Given the description of an element on the screen output the (x, y) to click on. 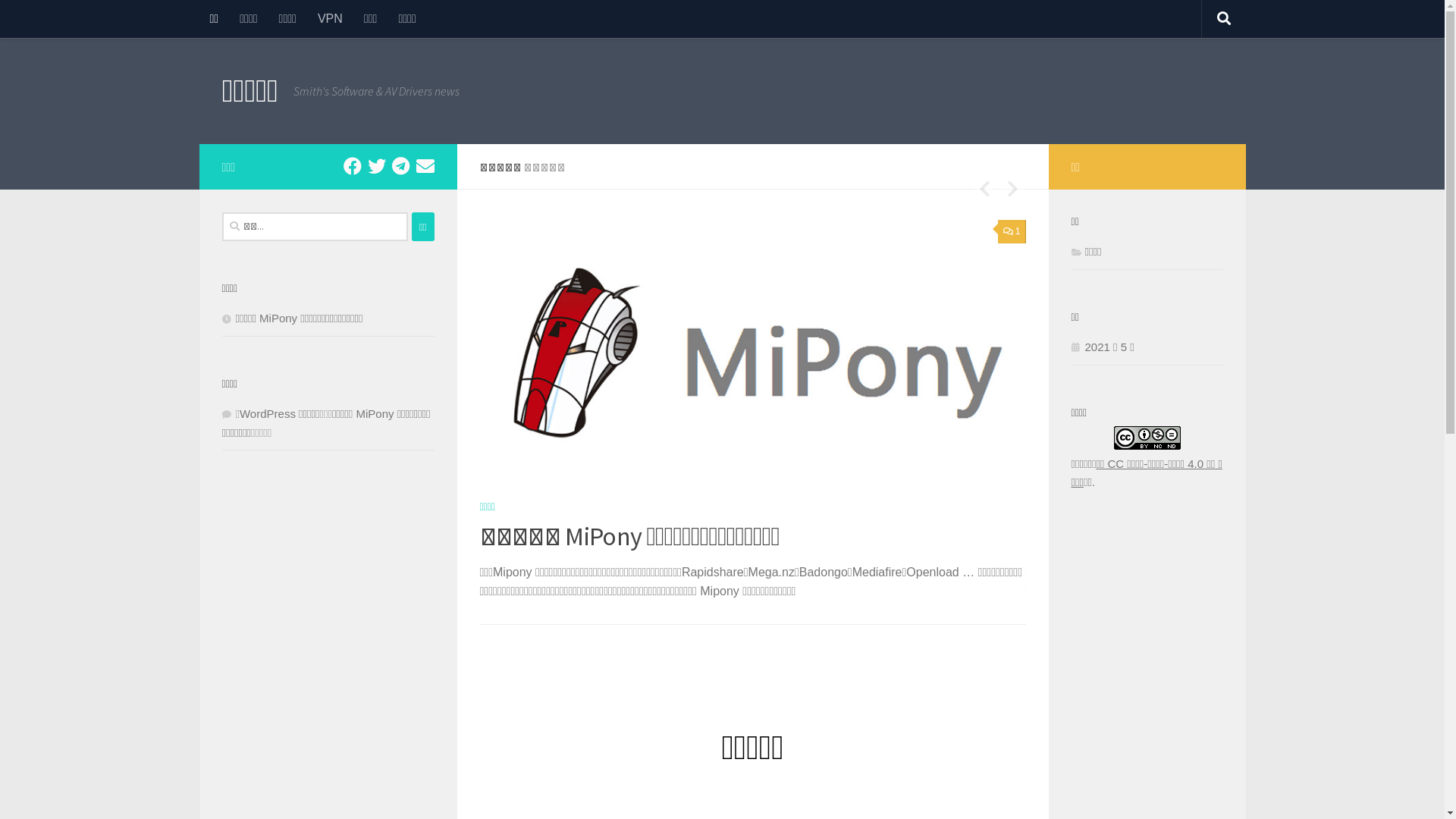
1 Element type: text (1011, 231)
1 Element type: text (465, 231)
Previous Element type: text (984, 187)
VPN Element type: text (330, 18)
Skip to content Element type: text (62, 21)
Next Element type: text (1012, 187)
